Given the description of an element on the screen output the (x, y) to click on. 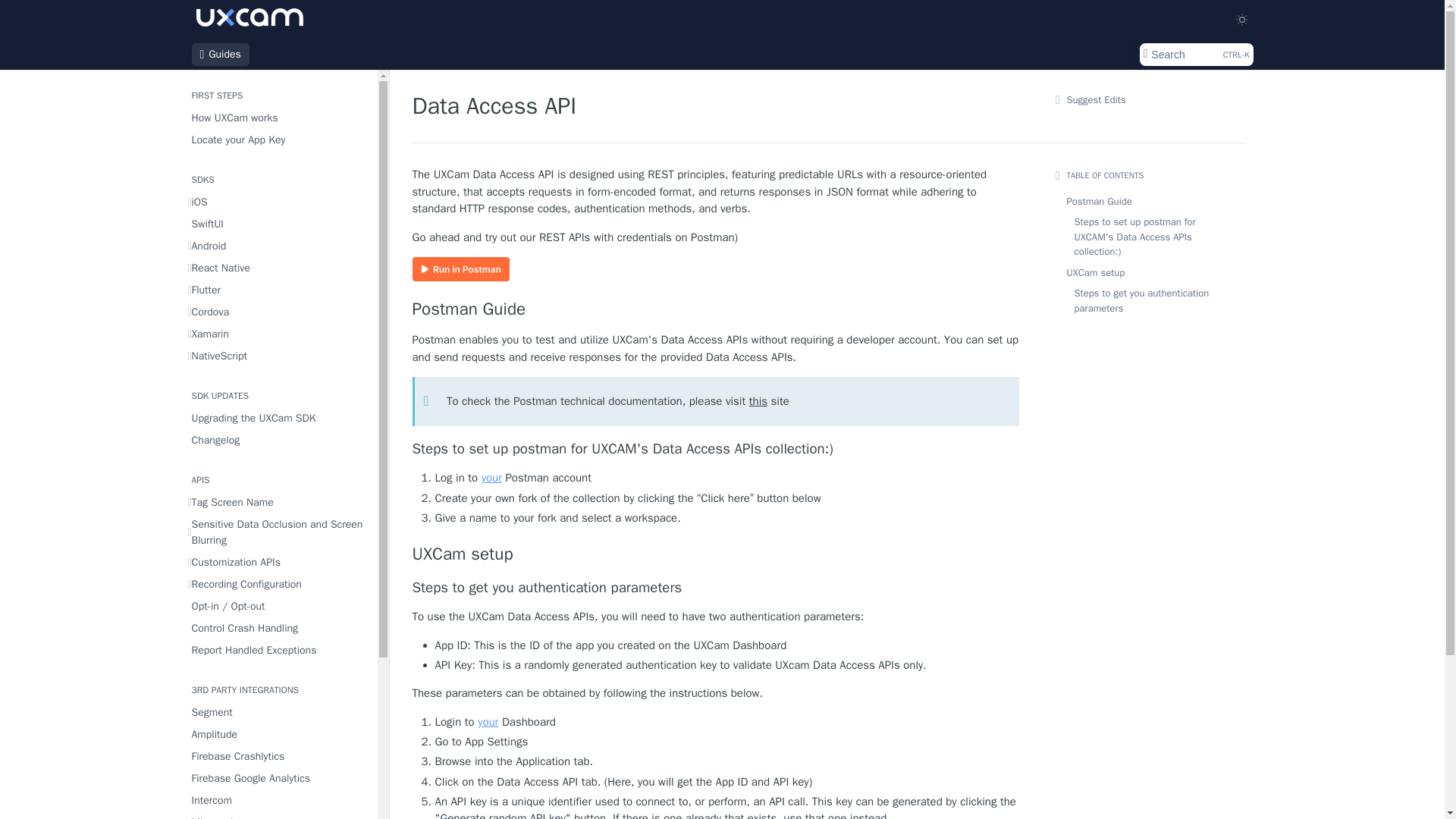
Flutter (277, 290)
SwiftUI (277, 223)
iOS (1195, 54)
Tag Screen Name (277, 201)
Steps to get you authentication parameters (277, 502)
Xamarin (715, 588)
How UXCam works (277, 333)
React Native (277, 117)
Upgrading the UXCam SDK (277, 267)
NativeScript (277, 417)
Android (277, 355)
Cordova (277, 245)
Locate your App Key (277, 312)
UXCam setup (277, 139)
